Given the description of an element on the screen output the (x, y) to click on. 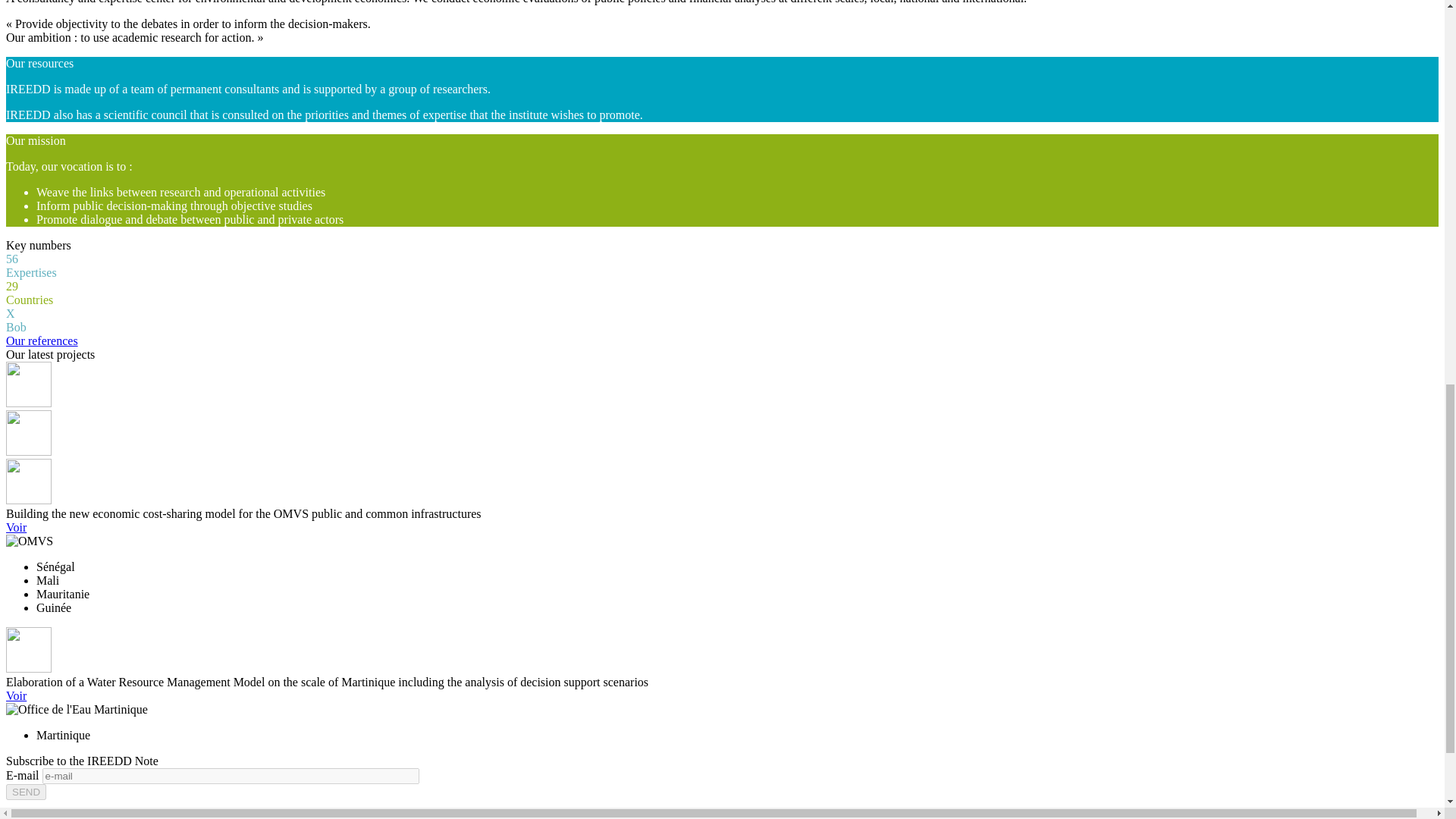
Voir (15, 695)
Voir (15, 526)
SEND (25, 791)
SEND (25, 791)
Our references (41, 340)
